Given the description of an element on the screen output the (x, y) to click on. 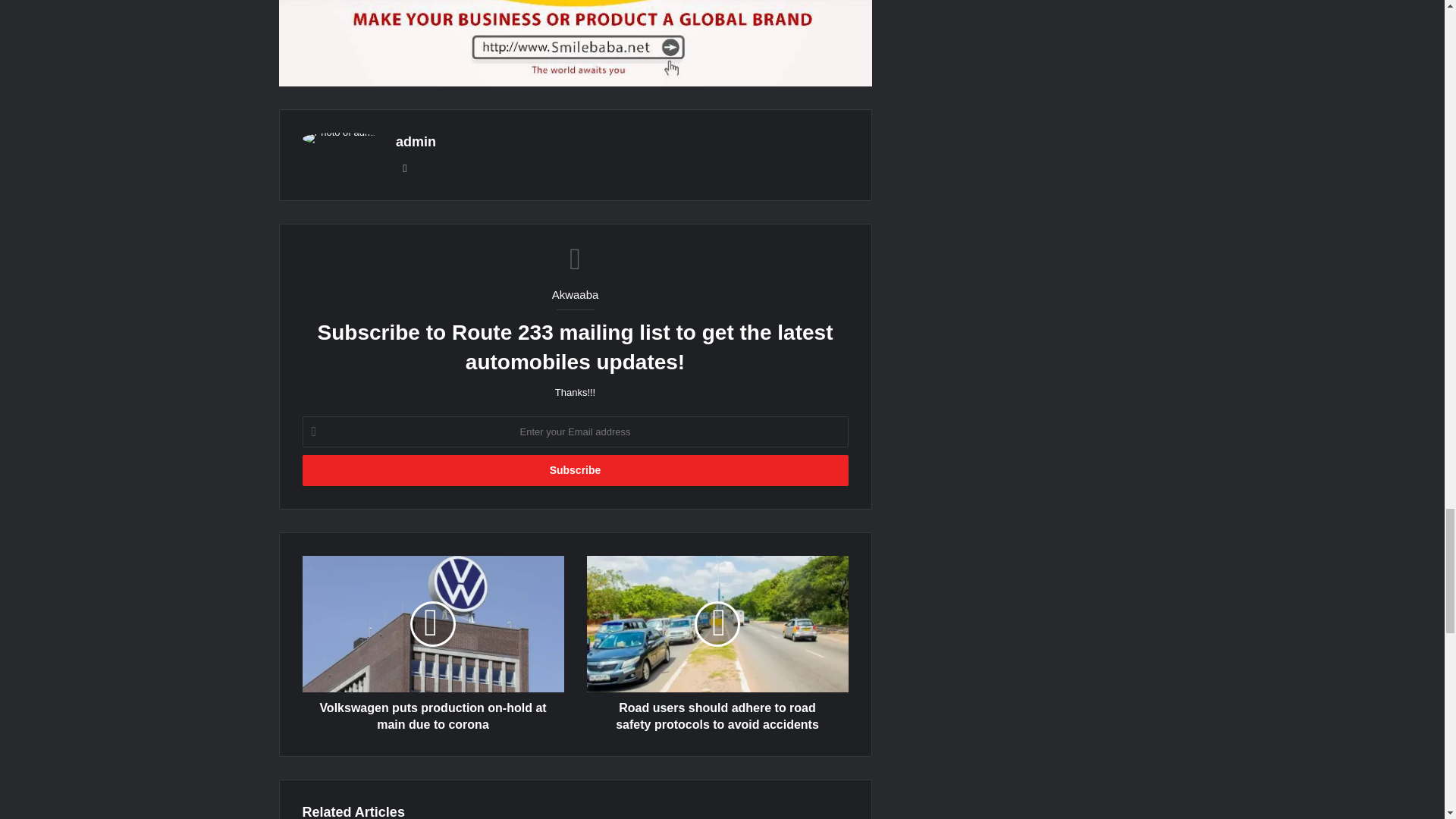
Subscribe (574, 470)
